Given the description of an element on the screen output the (x, y) to click on. 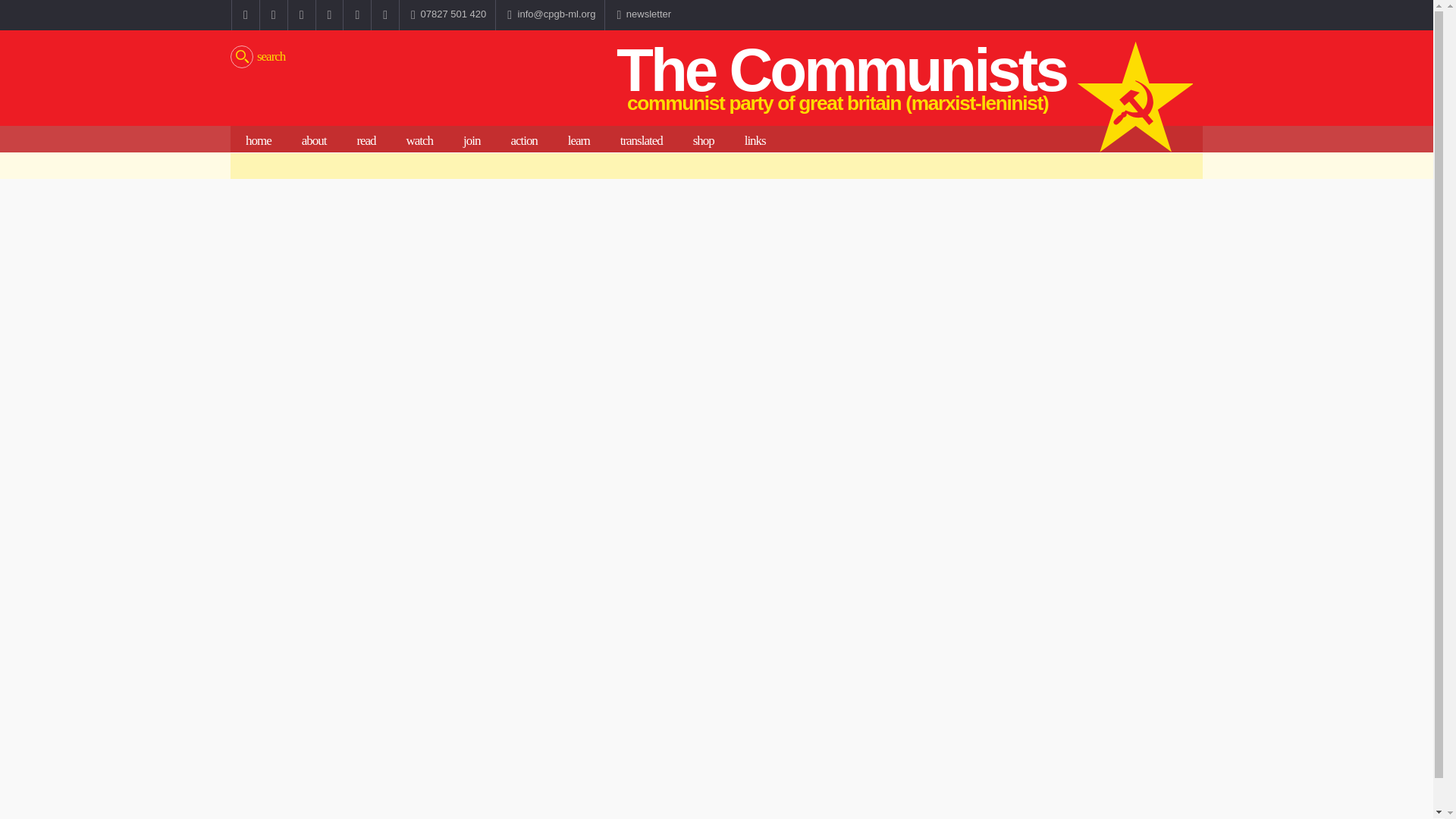
newsletter (641, 15)
07827 501 420 (446, 15)
